Given the description of an element on the screen output the (x, y) to click on. 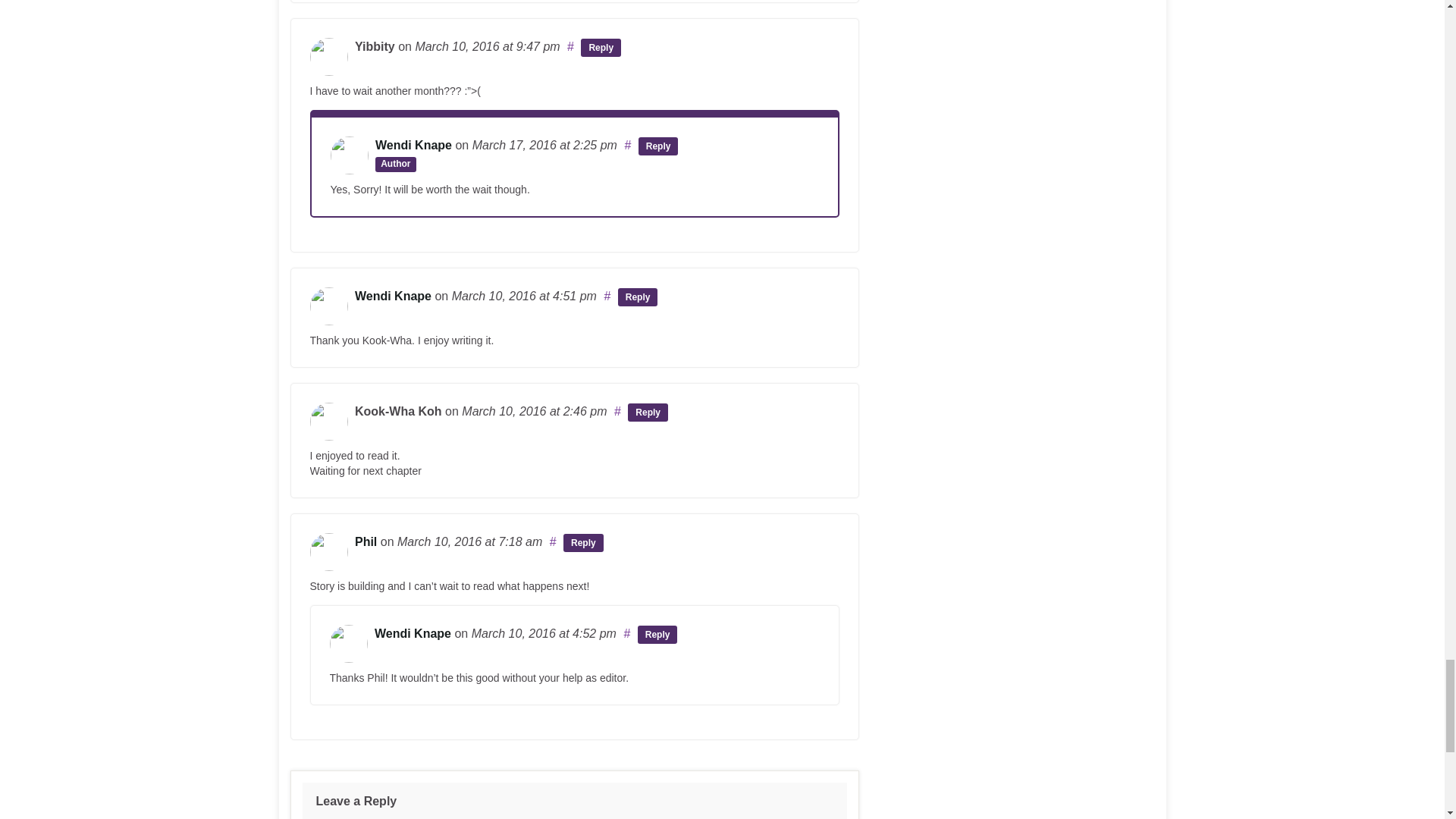
Wendi Knape (392, 295)
Reply (600, 47)
Phil (366, 541)
Reply (658, 146)
Reply (647, 412)
Wendi Knape (413, 144)
Reply (637, 297)
